Given the description of an element on the screen output the (x, y) to click on. 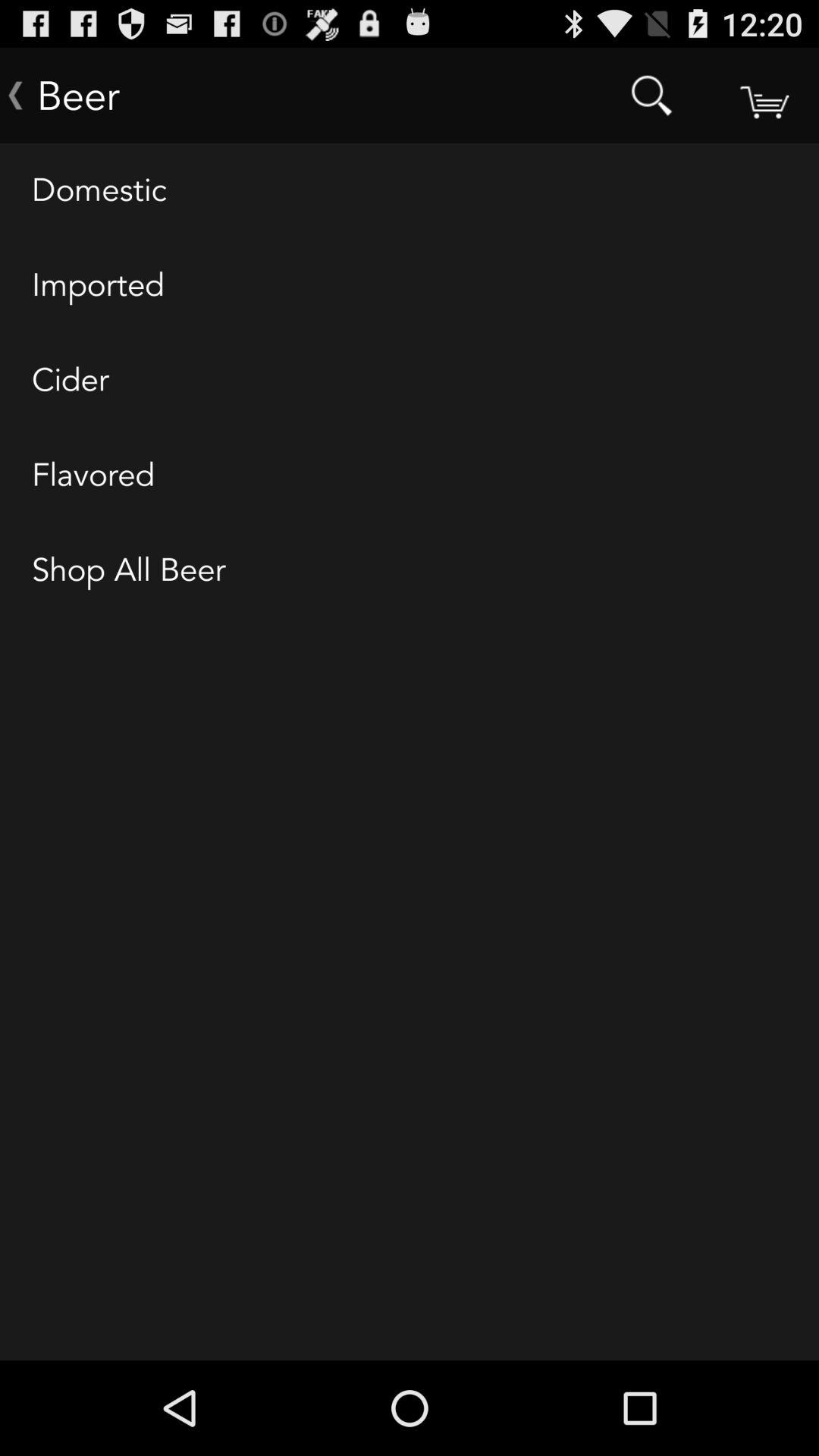
turn off the cider item (409, 380)
